Given the description of an element on the screen output the (x, y) to click on. 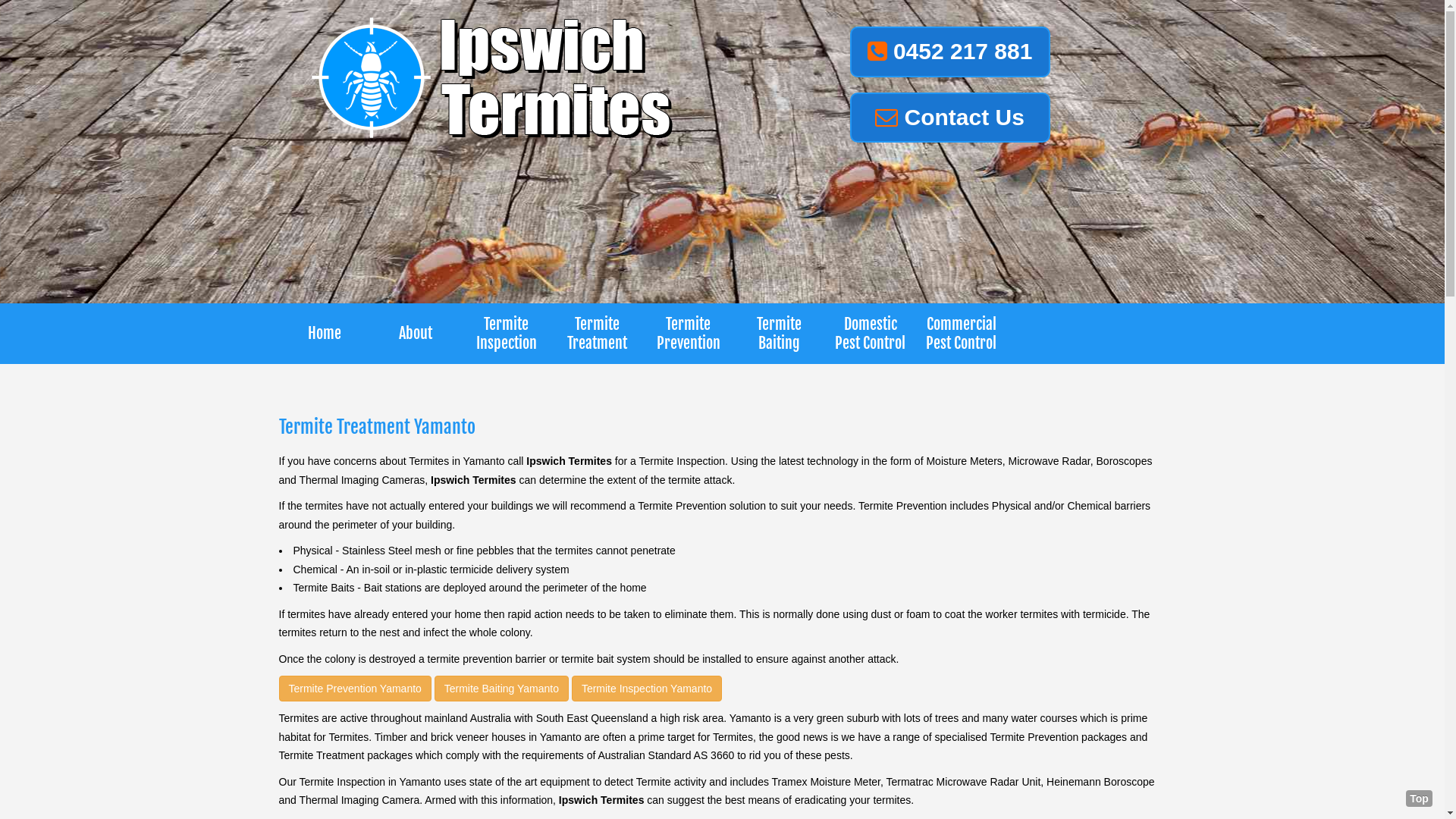
Top Element type: text (1418, 798)
Ipswich Termites Element type: hover (495, 77)
Commercial Pest Control Element type: text (961, 333)
Termite Baiting Yamanto Element type: text (501, 688)
Termite Inspection Yamanto Element type: text (646, 688)
Domestic Pest Control Element type: text (870, 333)
Termite Prevention Yamanto Element type: text (355, 688)
Home Element type: text (324, 333)
About Element type: text (415, 333)
Termite Inspection Element type: text (506, 333)
0452 217 881 Element type: text (949, 51)
Termite Prevention Element type: text (688, 333)
Termite Treatment Element type: text (597, 333)
Contact Us Element type: text (949, 117)
Termite Baiting Element type: text (779, 333)
